Given the description of an element on the screen output the (x, y) to click on. 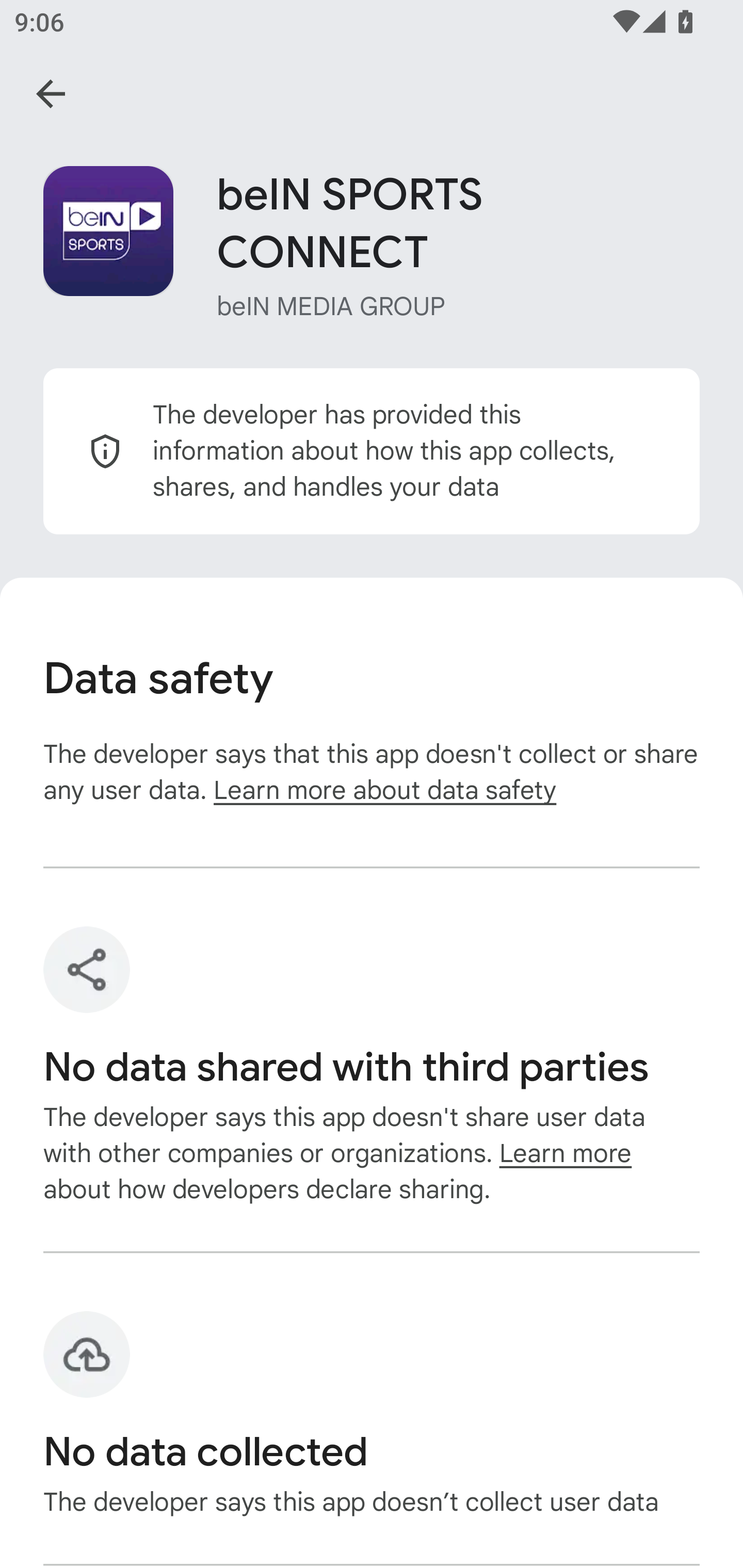
Navigate up (50, 93)
